Given the description of an element on the screen output the (x, y) to click on. 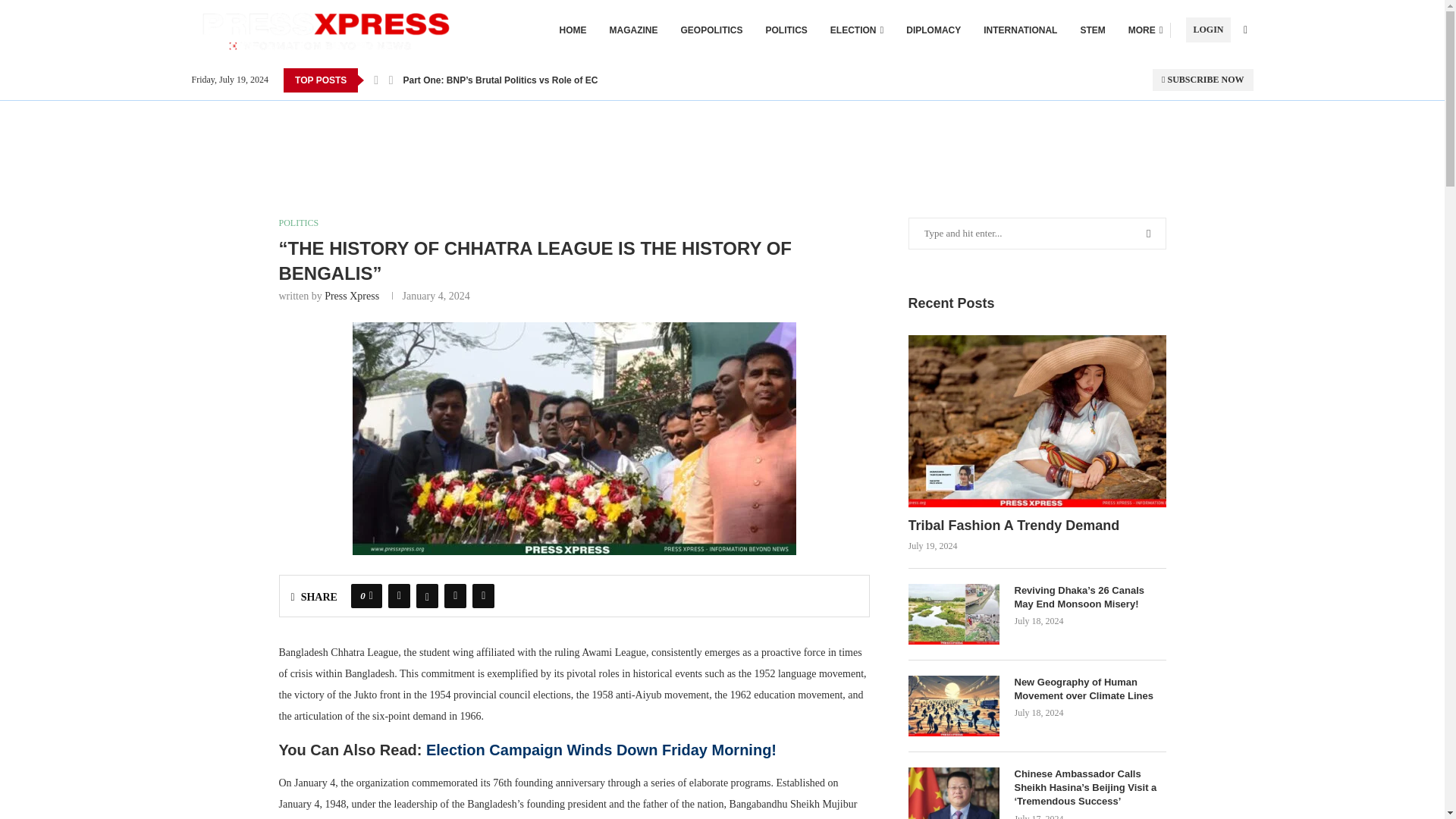
MAGAZINE (634, 30)
INTERNATIONAL (1020, 30)
GEOPOLITICS (711, 30)
Tribal Fashion A Trendy Demand (1037, 525)
ELECTION (856, 30)
Tribal Fashion A Trendy Demand (1037, 420)
POLITICS (786, 30)
Advertisement (722, 134)
DIPLOMACY (932, 30)
